Given the description of an element on the screen output the (x, y) to click on. 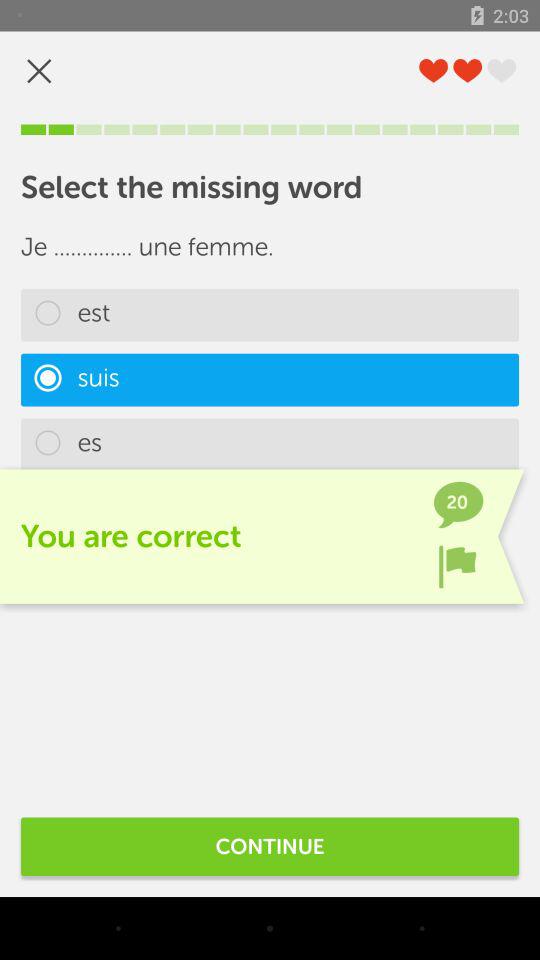
flag response (457, 566)
